Given the description of an element on the screen output the (x, y) to click on. 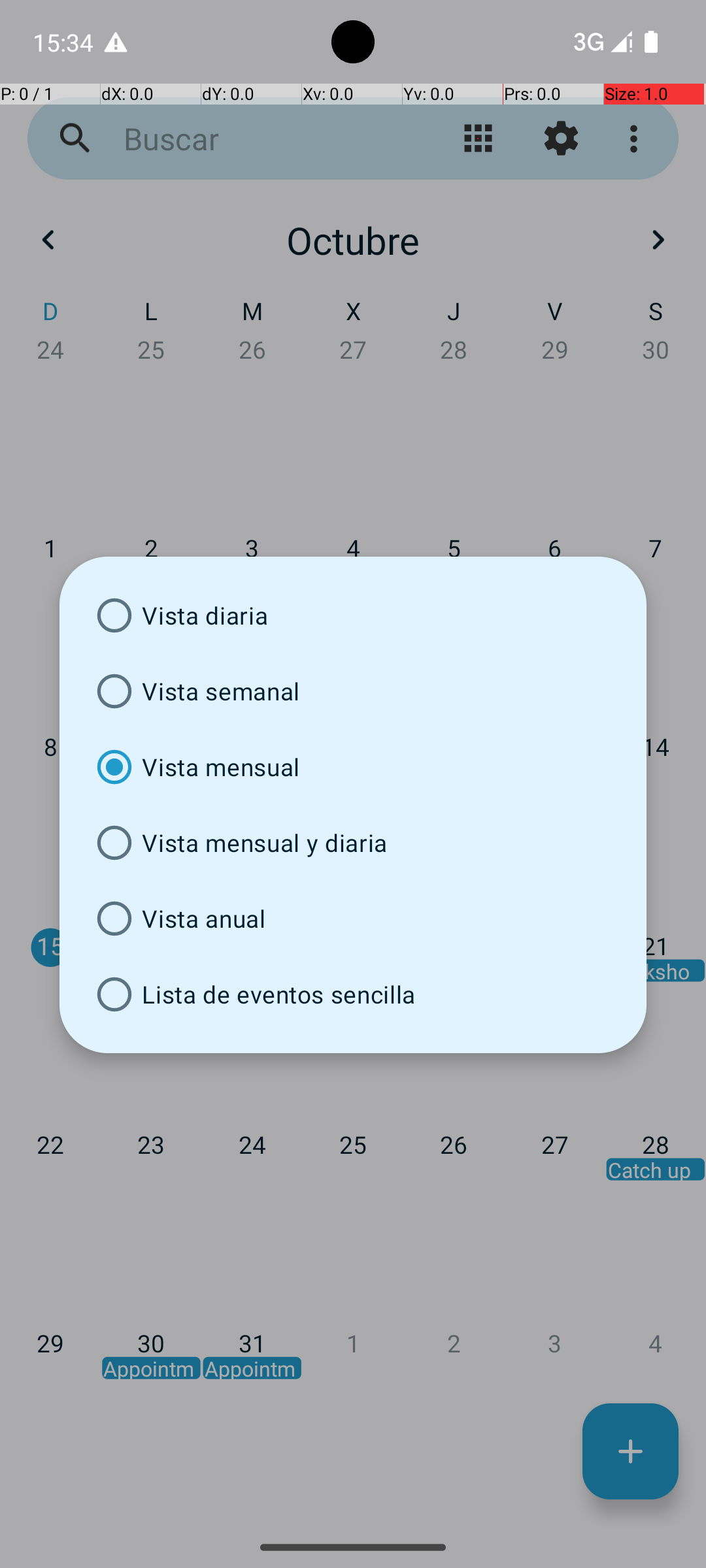
Vista diaria Element type: android.widget.RadioButton (352, 615)
Vista semanal Element type: android.widget.RadioButton (352, 691)
Vista mensual Element type: android.widget.RadioButton (352, 766)
Vista mensual y diaria Element type: android.widget.RadioButton (352, 842)
Vista anual Element type: android.widget.RadioButton (352, 918)
Lista de eventos sencilla Element type: android.widget.RadioButton (352, 994)
